Given the description of an element on the screen output the (x, y) to click on. 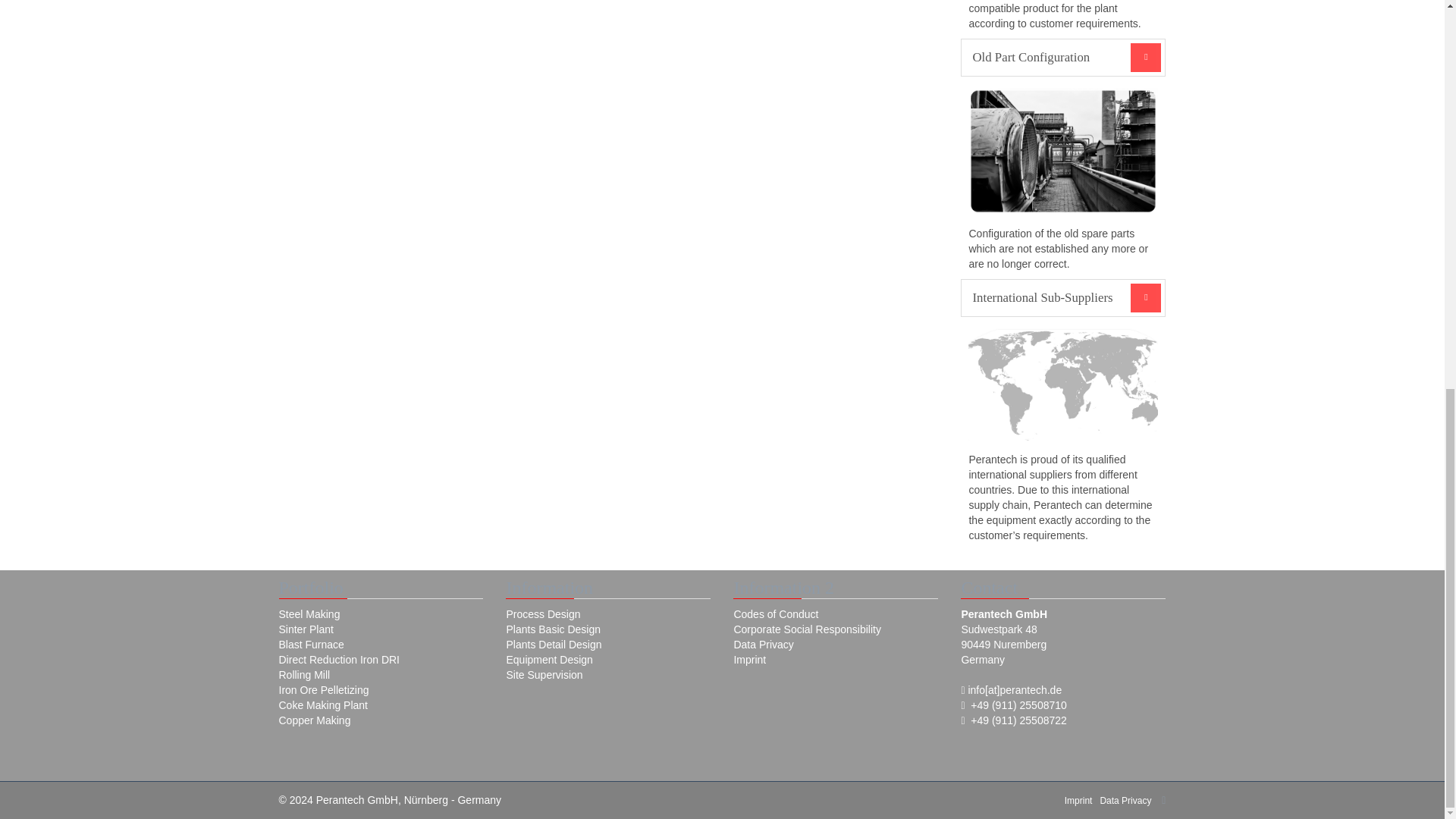
Sinter Plant (306, 629)
Steel Making (309, 613)
Iron Ore Pelletizing (324, 689)
Equipment Design (548, 659)
Coke Making Plant (323, 705)
Copper Making (314, 720)
Plants Detail Design (553, 644)
Plants Basic Design (552, 629)
Corporate Social Responsibility (806, 629)
Rolling Mill (304, 674)
Process Design (542, 613)
Codes of Conduct (775, 613)
Site Supervision (543, 674)
Goto Top (1163, 799)
Direct Reduction Iron DRI (339, 659)
